Given the description of an element on the screen output the (x, y) to click on. 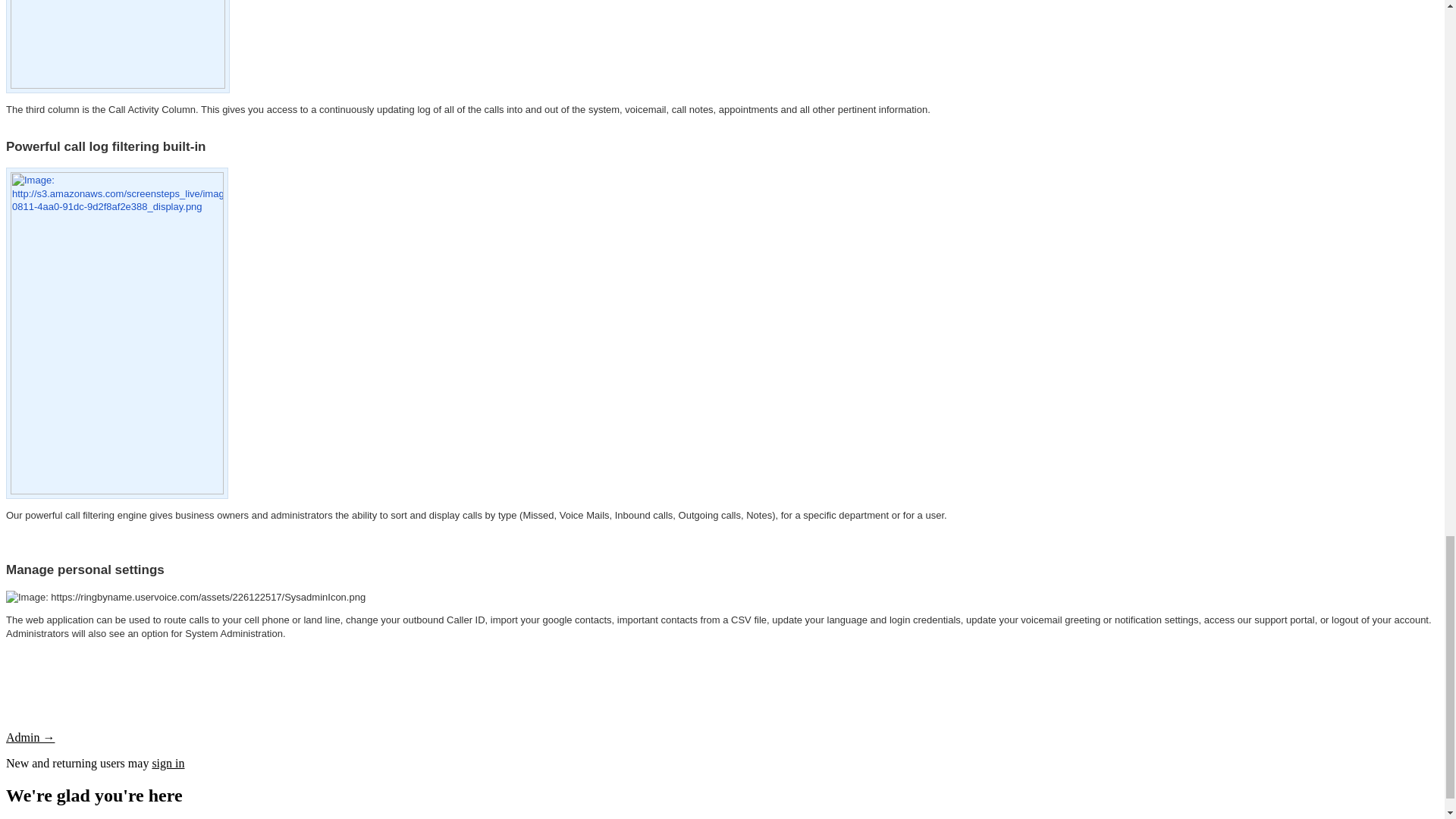
sign in (167, 762)
